Given the description of an element on the screen output the (x, y) to click on. 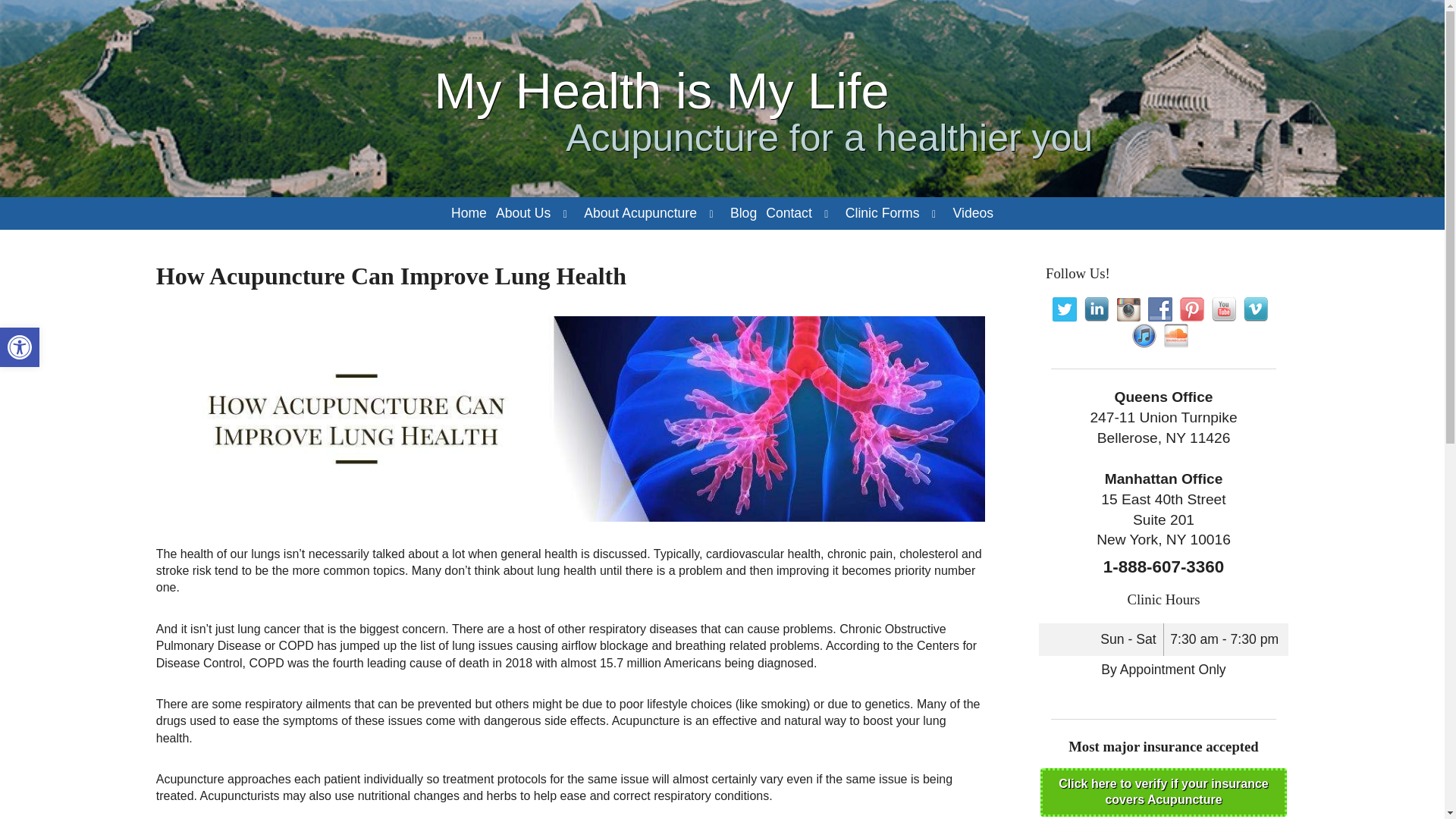
Blog (743, 213)
Follow Us on Instagram (1128, 309)
Clinic Forms (882, 213)
Follow Us on YouTube (1223, 309)
About Us (523, 213)
Follow Us on Soundcloud (1175, 335)
Accessibility Tools (19, 346)
Accessibility Tools (19, 346)
Follow Us on Vimeo (1255, 309)
Contact (788, 213)
Follow Us on Pinterest (1191, 309)
Follow Us on Facebook (1160, 309)
Insurance Verification (1164, 792)
Follow Us on iTunes (1143, 335)
Follow Us on LinkedIn (1096, 309)
